Given the description of an element on the screen output the (x, y) to click on. 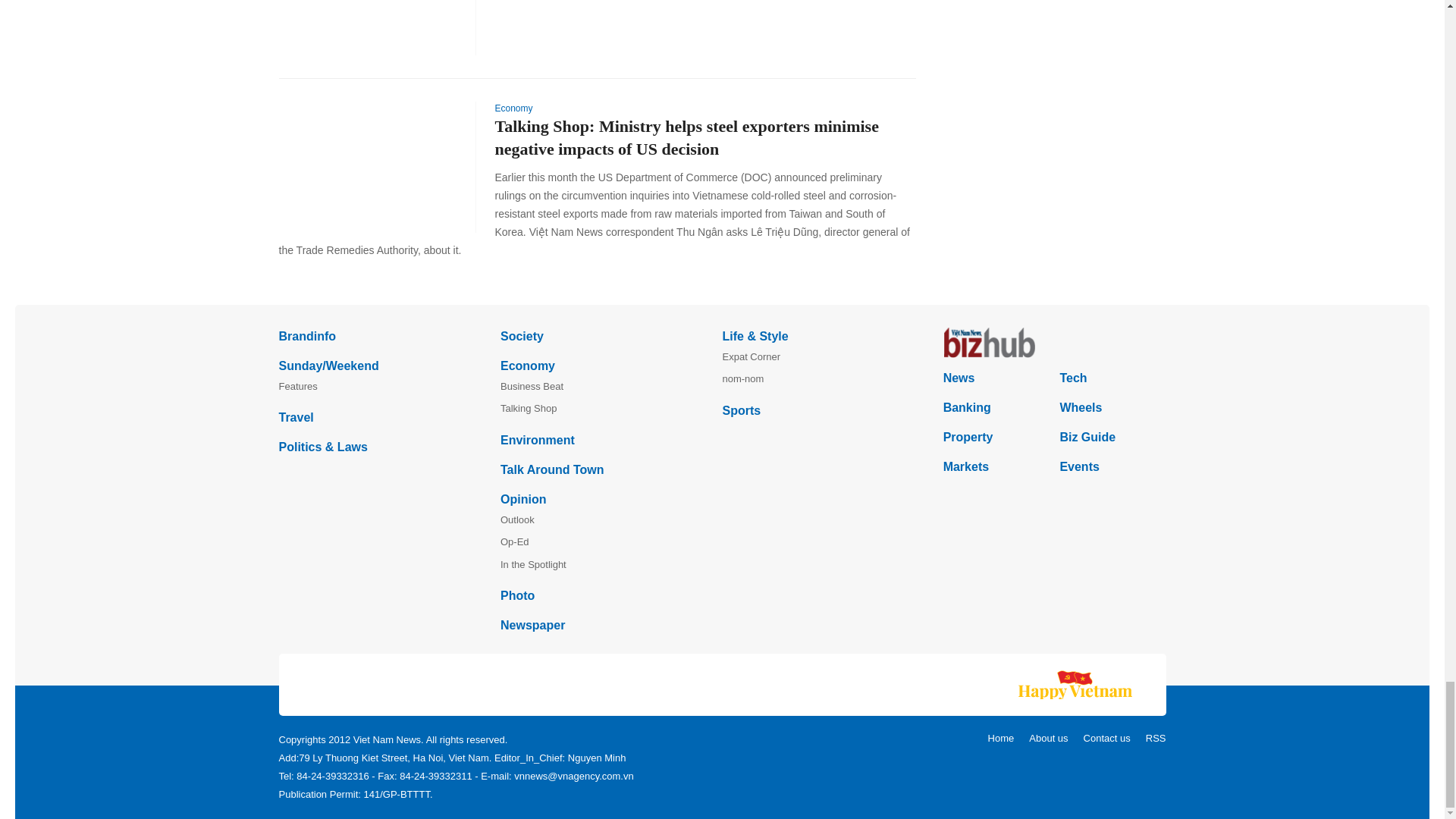
bizhub (1054, 342)
